Given the description of an element on the screen output the (x, y) to click on. 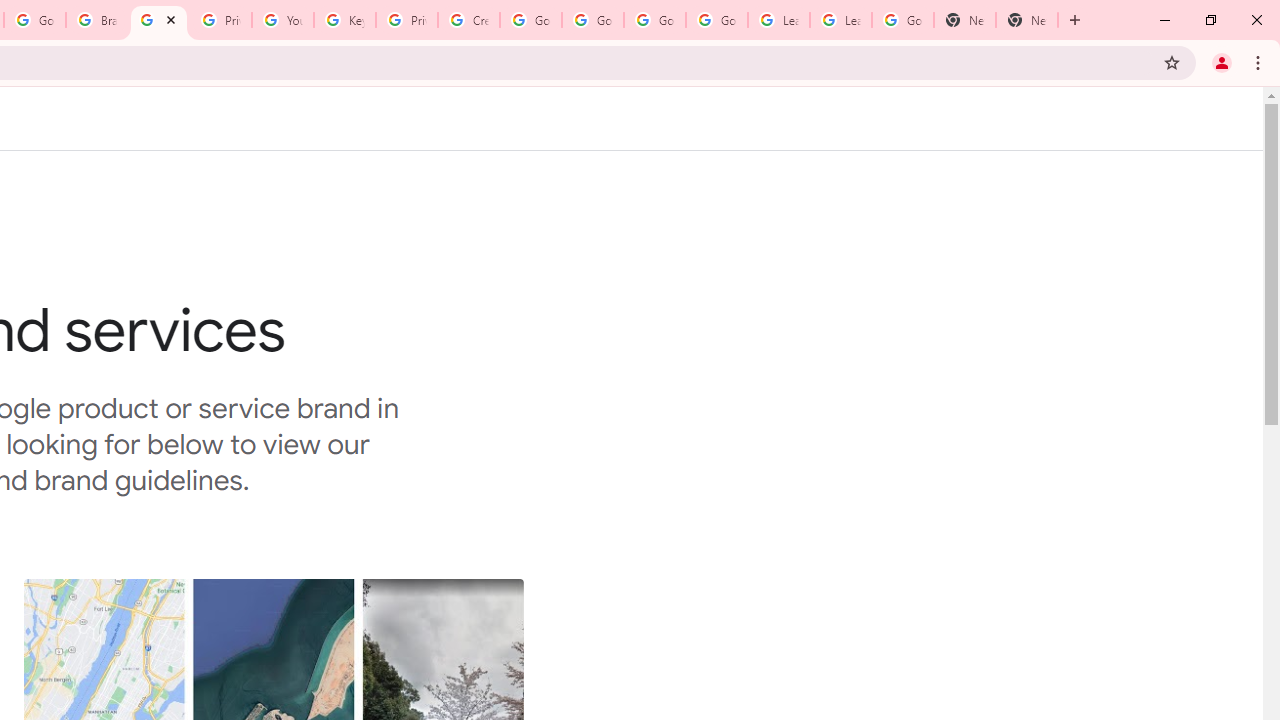
Google Account Help (592, 20)
Google Account Help (654, 20)
Create your Google Account (468, 20)
Google Account Help (716, 20)
New Tab (1026, 20)
